Given the description of an element on the screen output the (x, y) to click on. 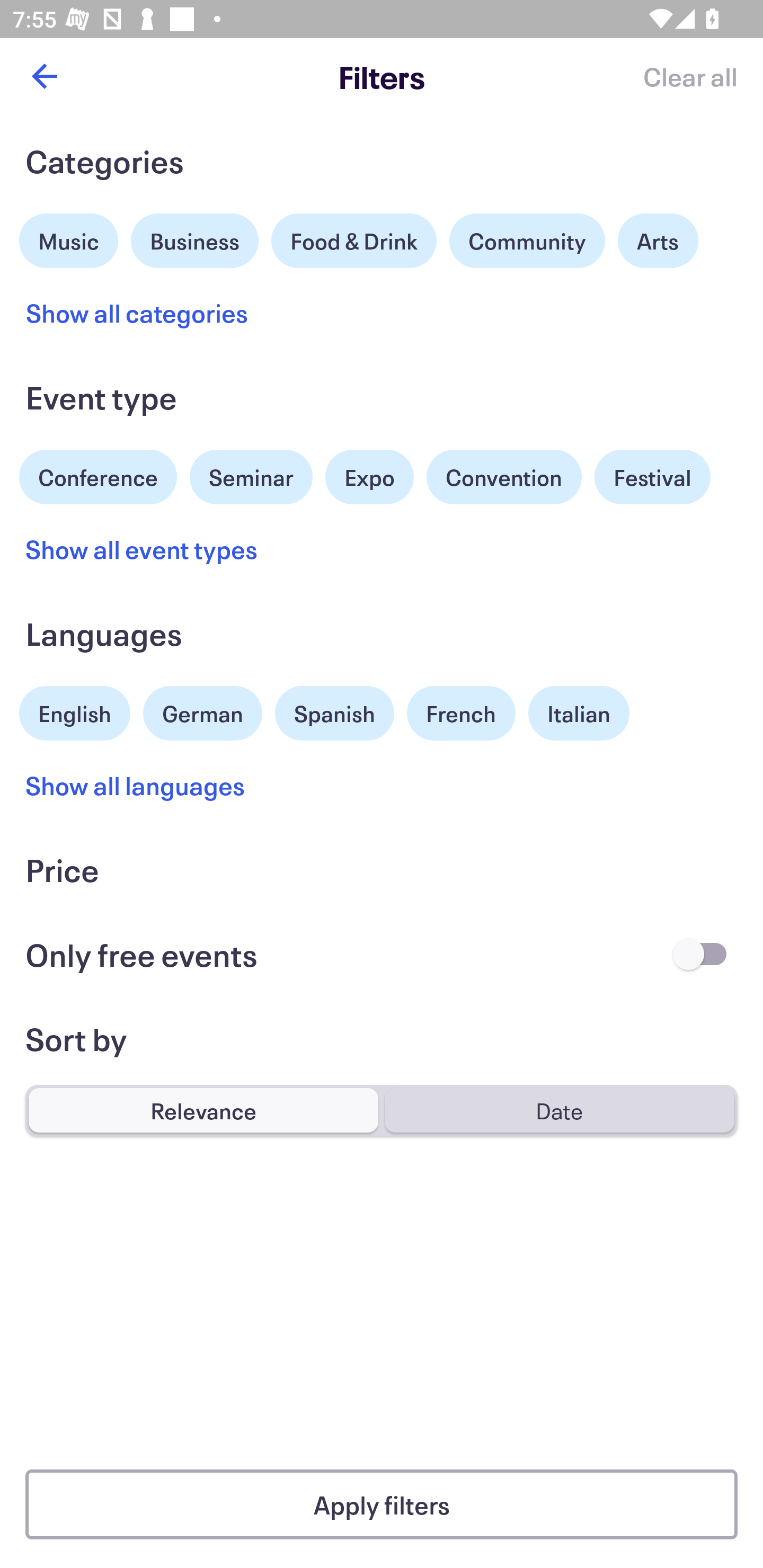
Back button (44, 75)
Clear all (690, 75)
Music (68, 238)
Business (194, 238)
Food & Drink (353, 240)
Community (527, 240)
Arts (658, 240)
Show all categories (136, 312)
Conference (98, 475)
Seminar (250, 477)
Expo (369, 477)
Convention (503, 477)
Festival (652, 477)
Show all event types (141, 548)
English (74, 710)
German (202, 710)
Spanish (334, 713)
French (460, 713)
Italian (578, 713)
Show all languages (135, 784)
Relevance (203, 1109)
Date (559, 1109)
Apply filters (381, 1504)
